Given the description of an element on the screen output the (x, y) to click on. 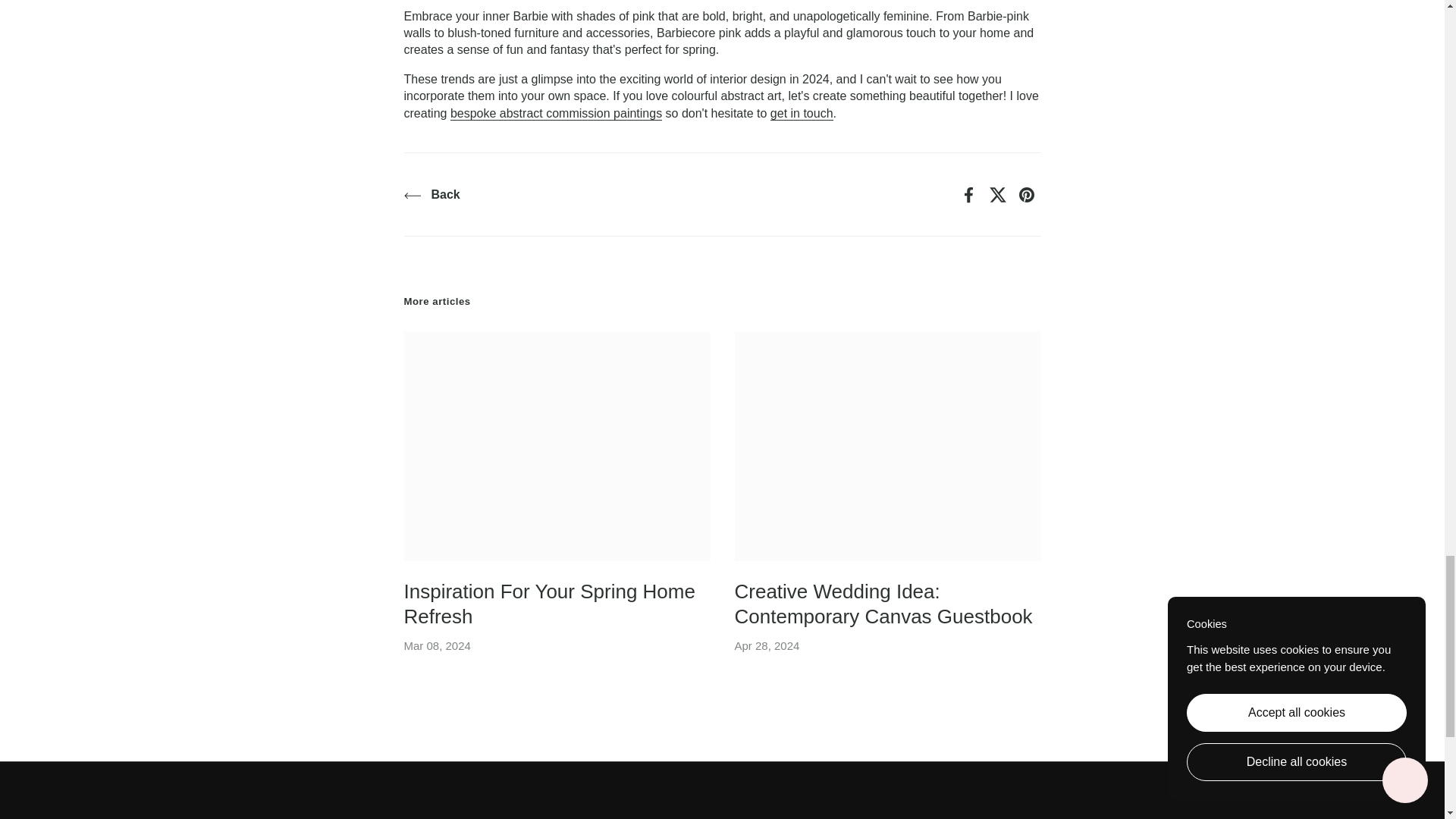
Creative Wedding Idea: Contemporary Canvas Guestbook (882, 606)
Creative Wedding Idea: Contemporary Canvas Guestbook (887, 446)
Inspiration For Your Spring Home Refresh (556, 446)
Inspiration For Your Spring Home Refresh (548, 606)
